Given the description of an element on the screen output the (x, y) to click on. 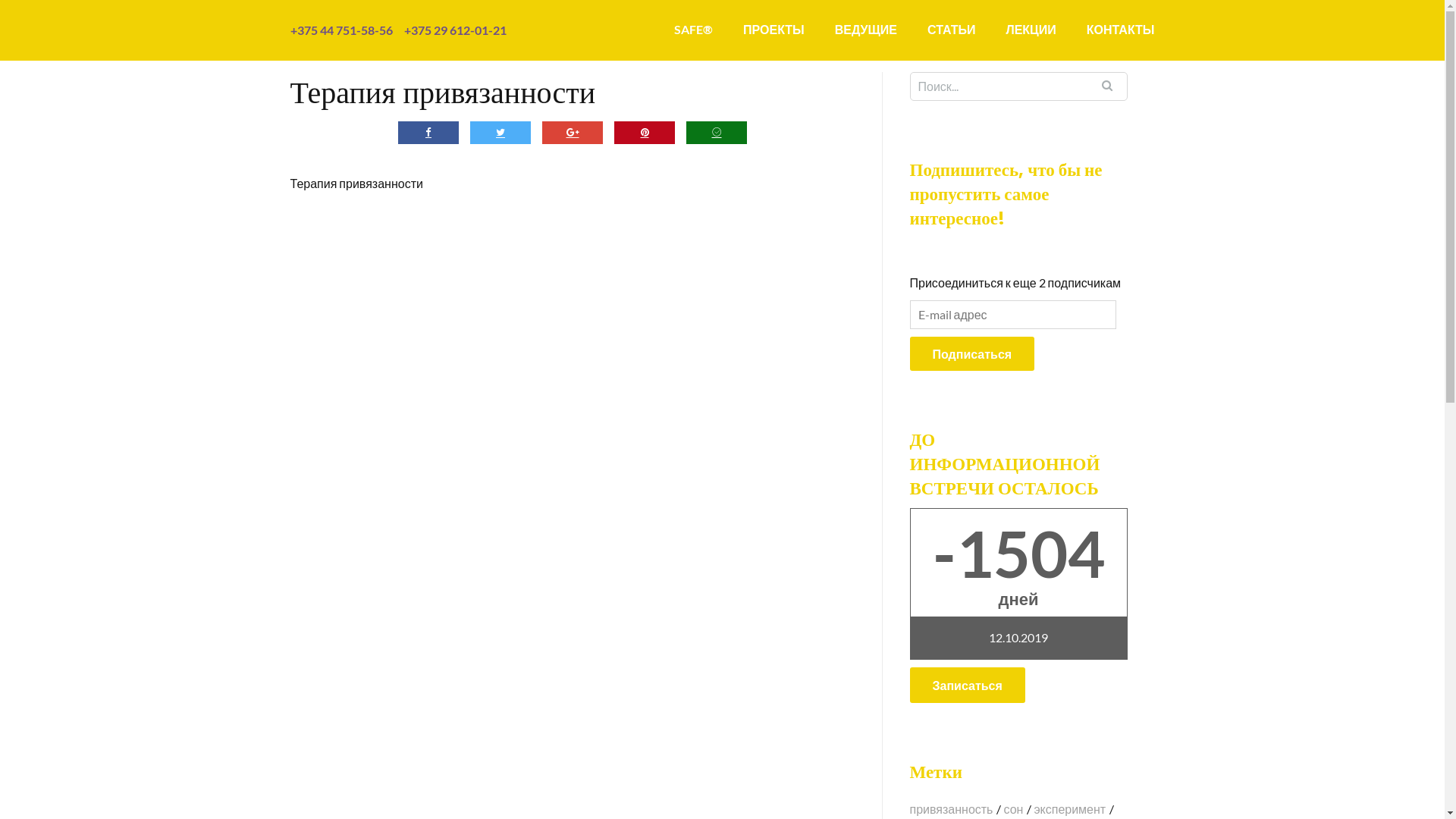
Search for: Element type: hover (1018, 86)
+375 44 751-58-56     Element type: text (345, 29)
+375 29 612-01-21 Element type: text (454, 29)
